Given the description of an element on the screen output the (x, y) to click on. 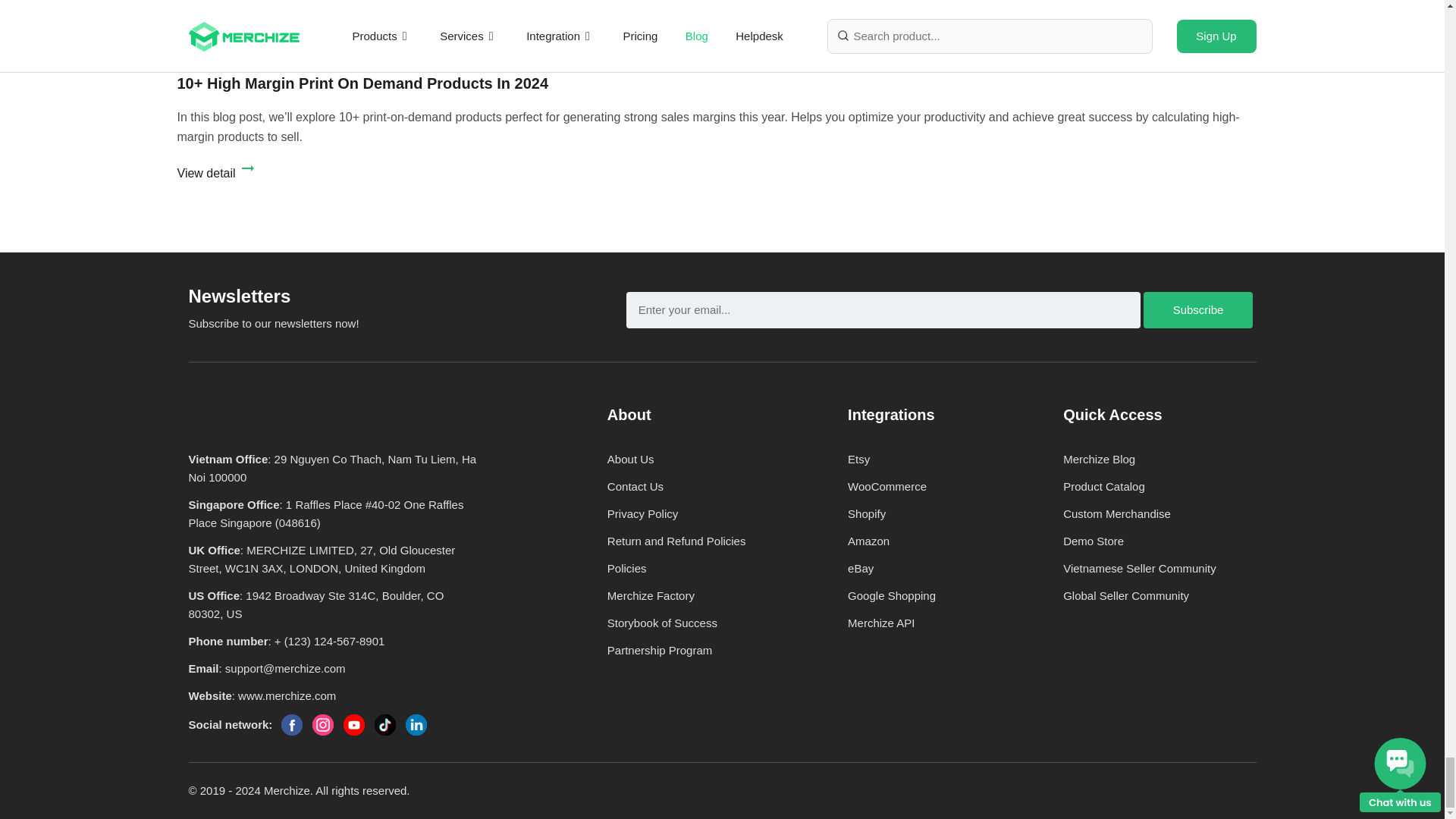
High Margin Print On Demand Products (380, 16)
Subscribe (1197, 309)
